Given the description of an element on the screen output the (x, y) to click on. 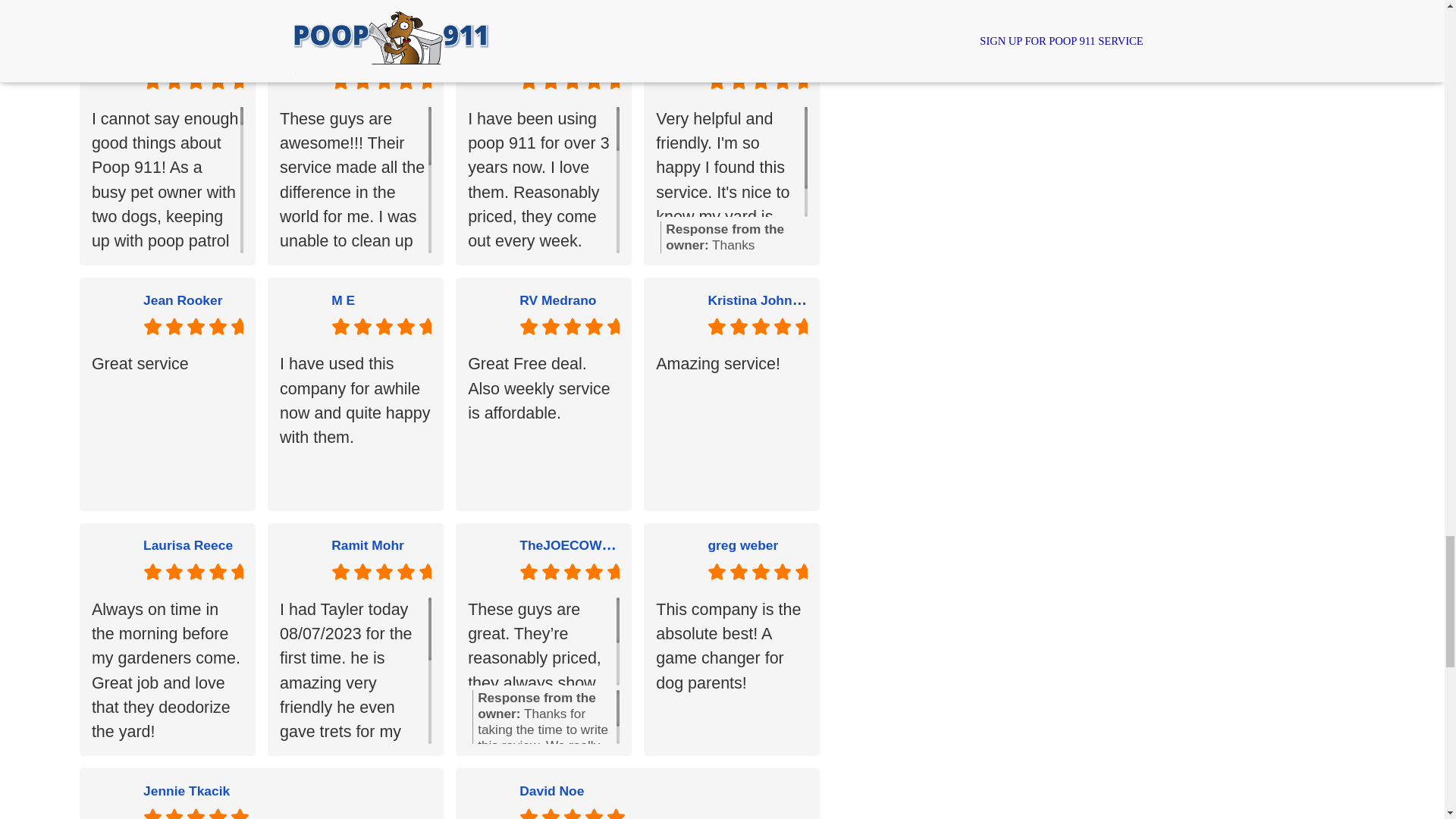
Response from the owner: Thanks (734, 237)
Janet Pickel (745, 54)
Great service (167, 425)
Heaven Lucero (566, 54)
Great Free deal. Also weekly service is affordable. (543, 425)
Victoria Potter (187, 54)
RV Medrano (557, 299)
Jean Rooker (182, 299)
Amazing service! (732, 425)
